Given the description of an element on the screen output the (x, y) to click on. 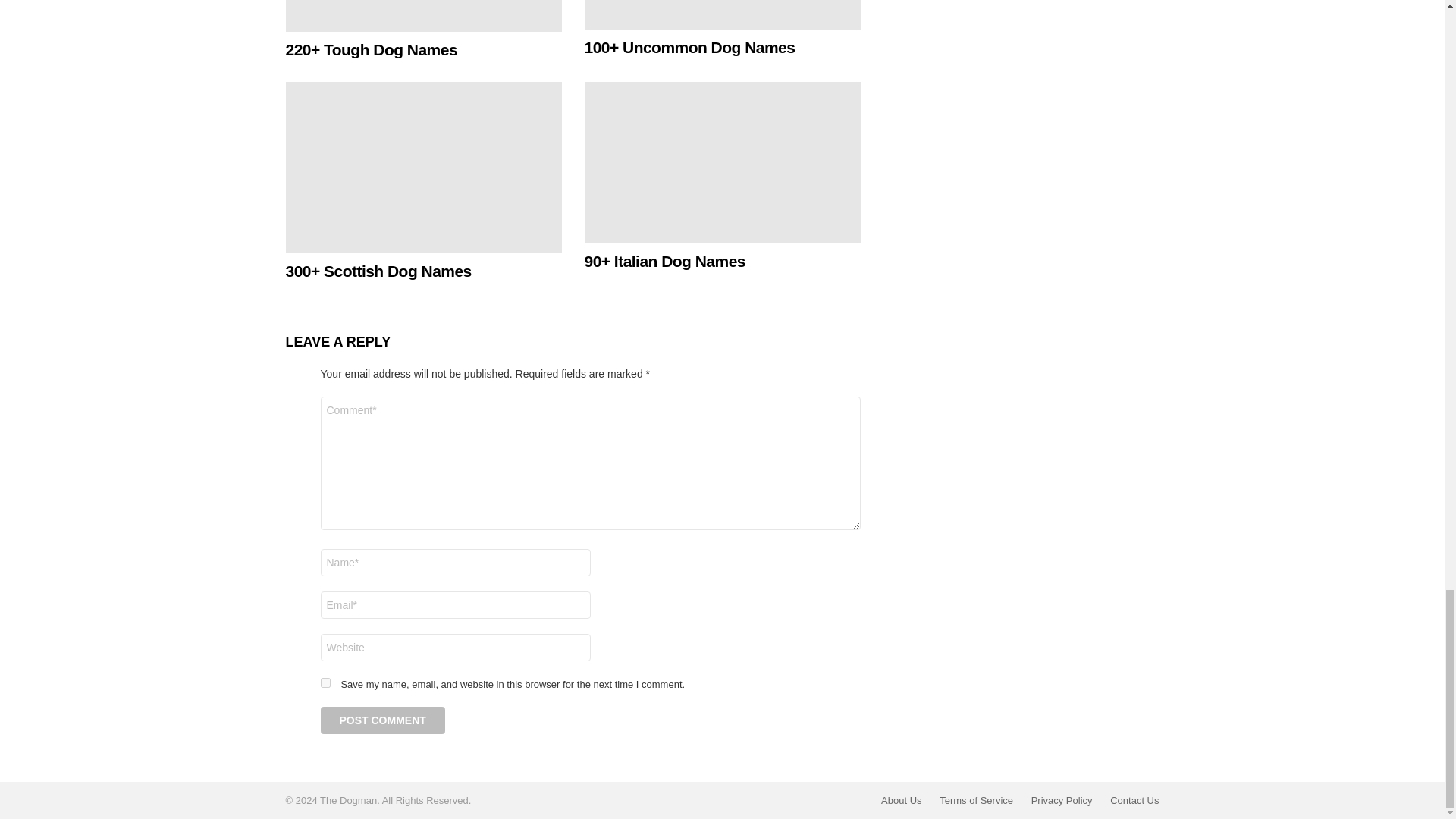
Post Comment (382, 719)
yes (325, 682)
